Given the description of an element on the screen output the (x, y) to click on. 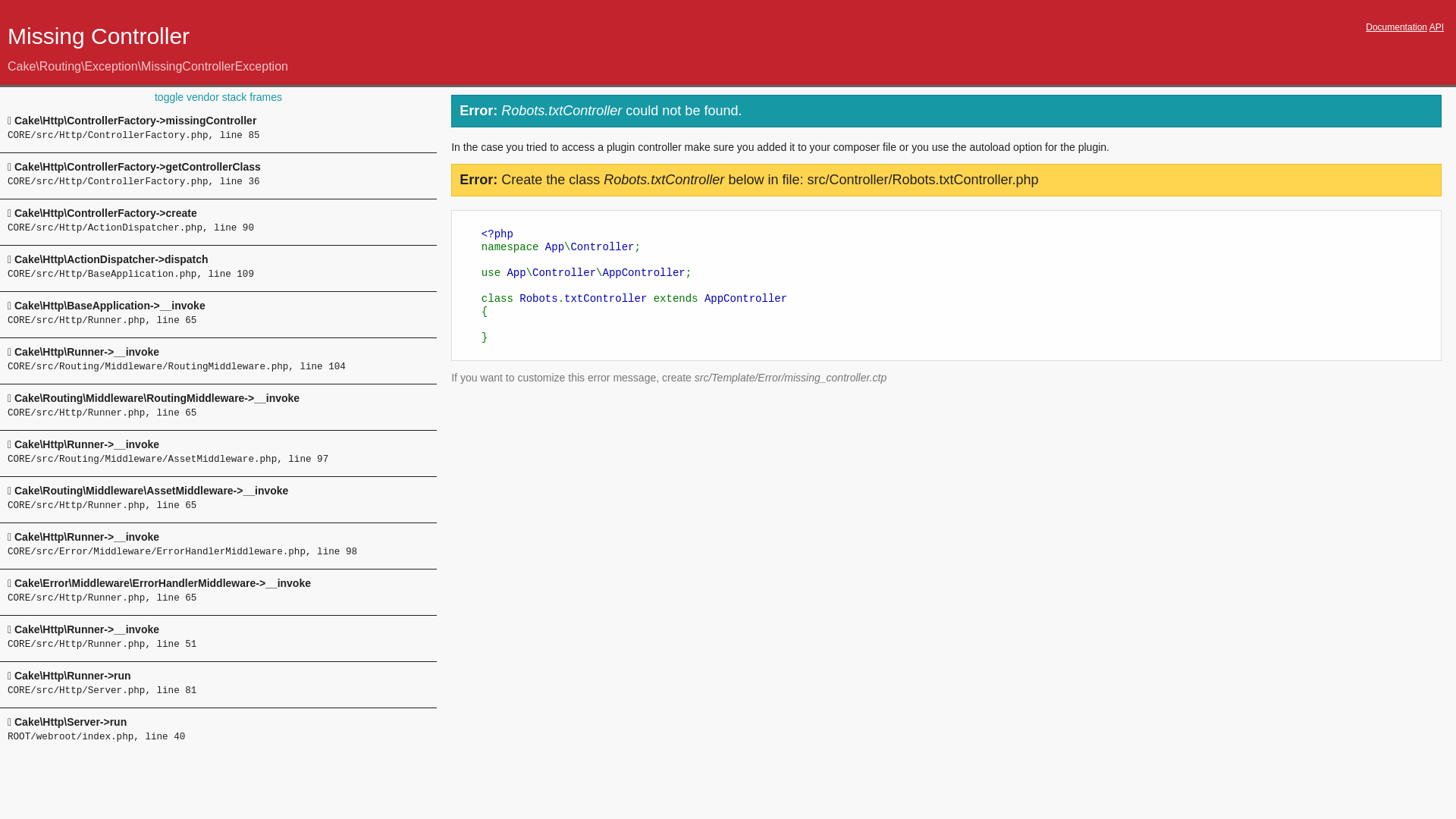
Documentation Element type: text (1396, 26)
toggle vendor stack frames Element type: text (218, 96)
API Element type: text (1436, 26)
